Given the description of an element on the screen output the (x, y) to click on. 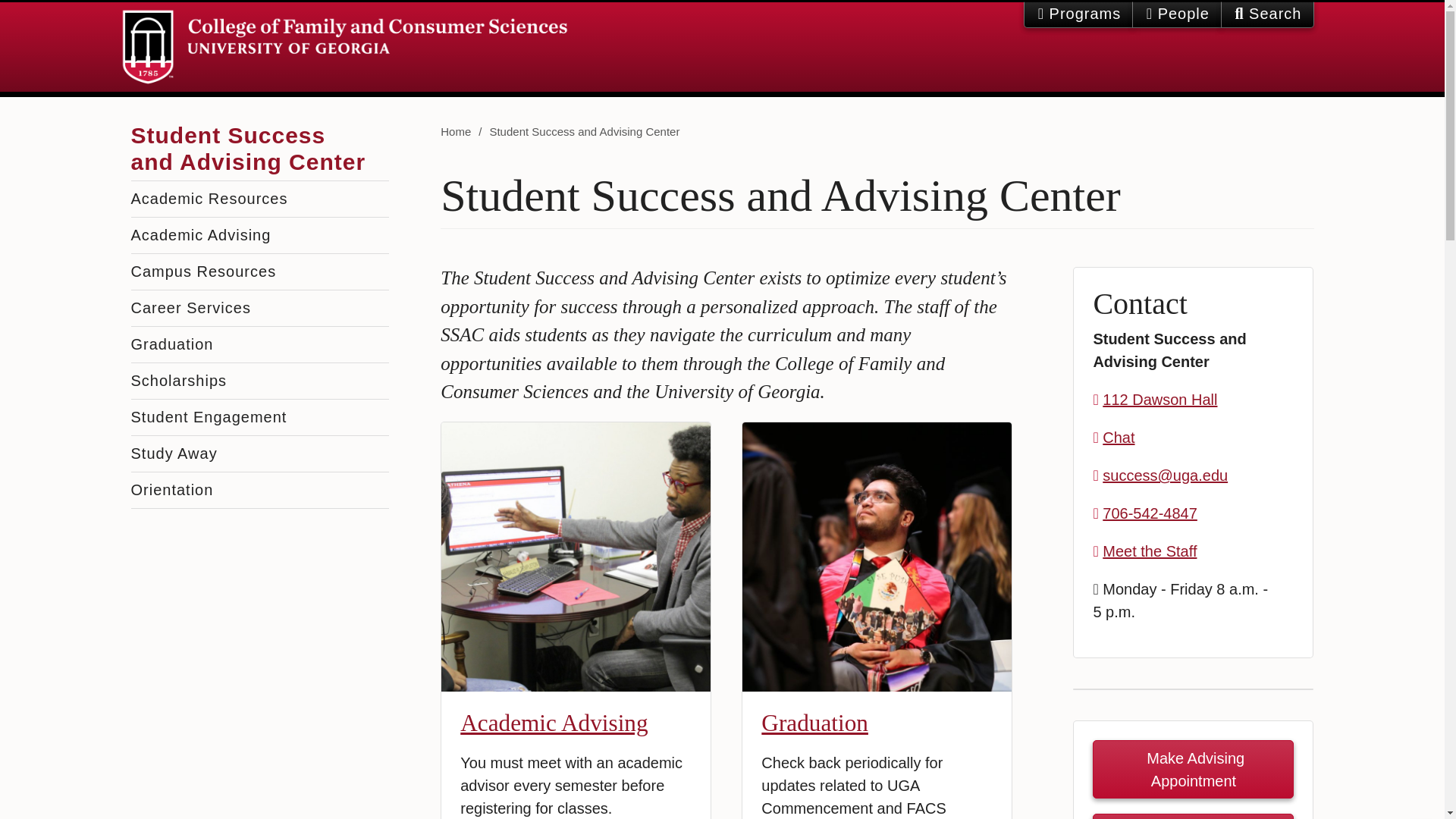
Graduation (814, 723)
Programs (1077, 14)
Meet the Staff (1149, 550)
Academic Advising (553, 723)
Academic Programs (1078, 13)
People (1176, 14)
706-542-4847 (1149, 513)
Graduation (259, 344)
UGA College of Family and Consumer Sciences Home Page (344, 46)
Search (1267, 14)
Scholarships (259, 380)
Campus Resources (259, 271)
Student Success and Advising Center (248, 143)
Make Advising Appointment (1193, 769)
Academic Advising (259, 235)
